Given the description of an element on the screen output the (x, y) to click on. 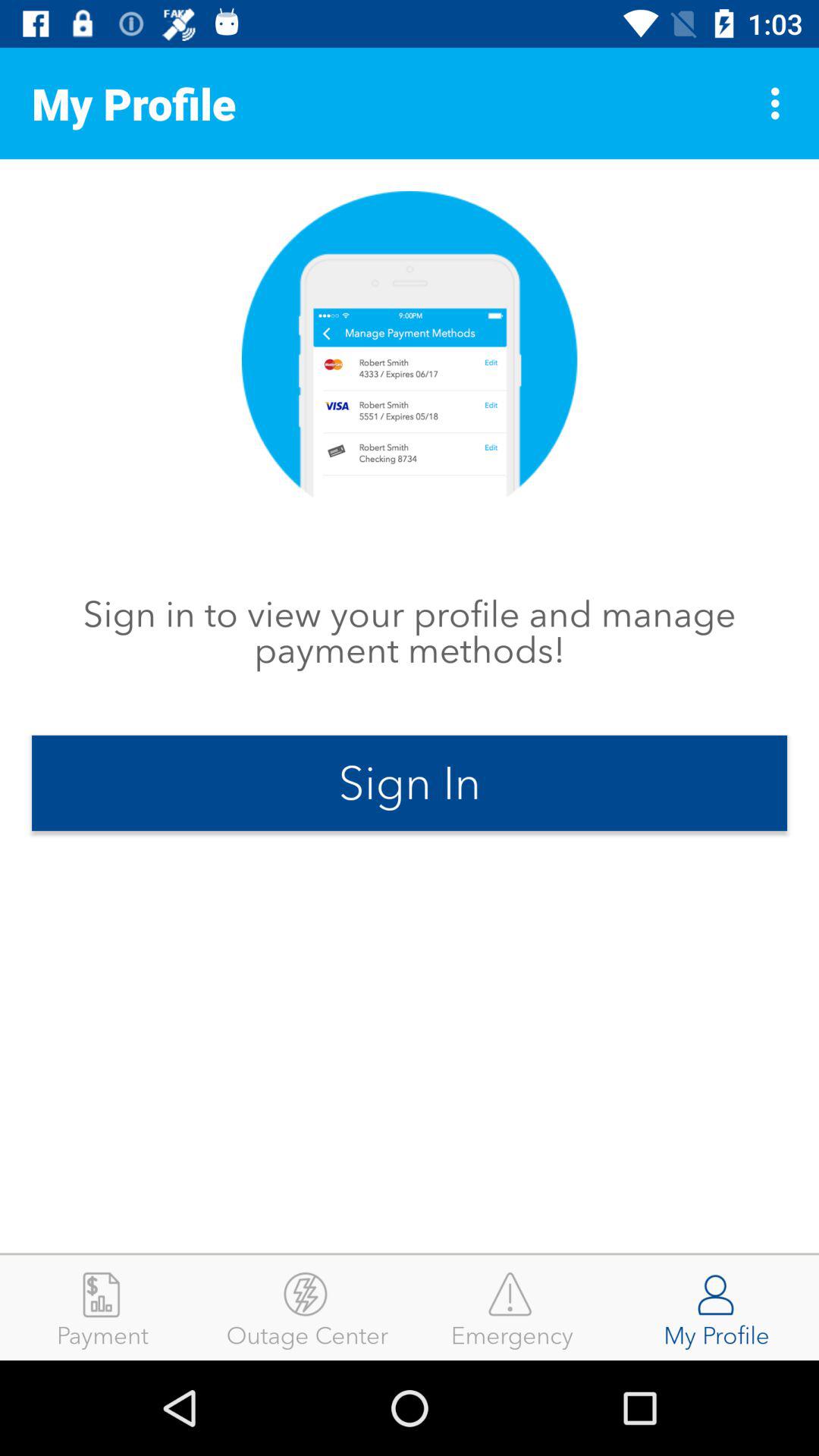
open the item to the left of my profile (511, 1307)
